Given the description of an element on the screen output the (x, y) to click on. 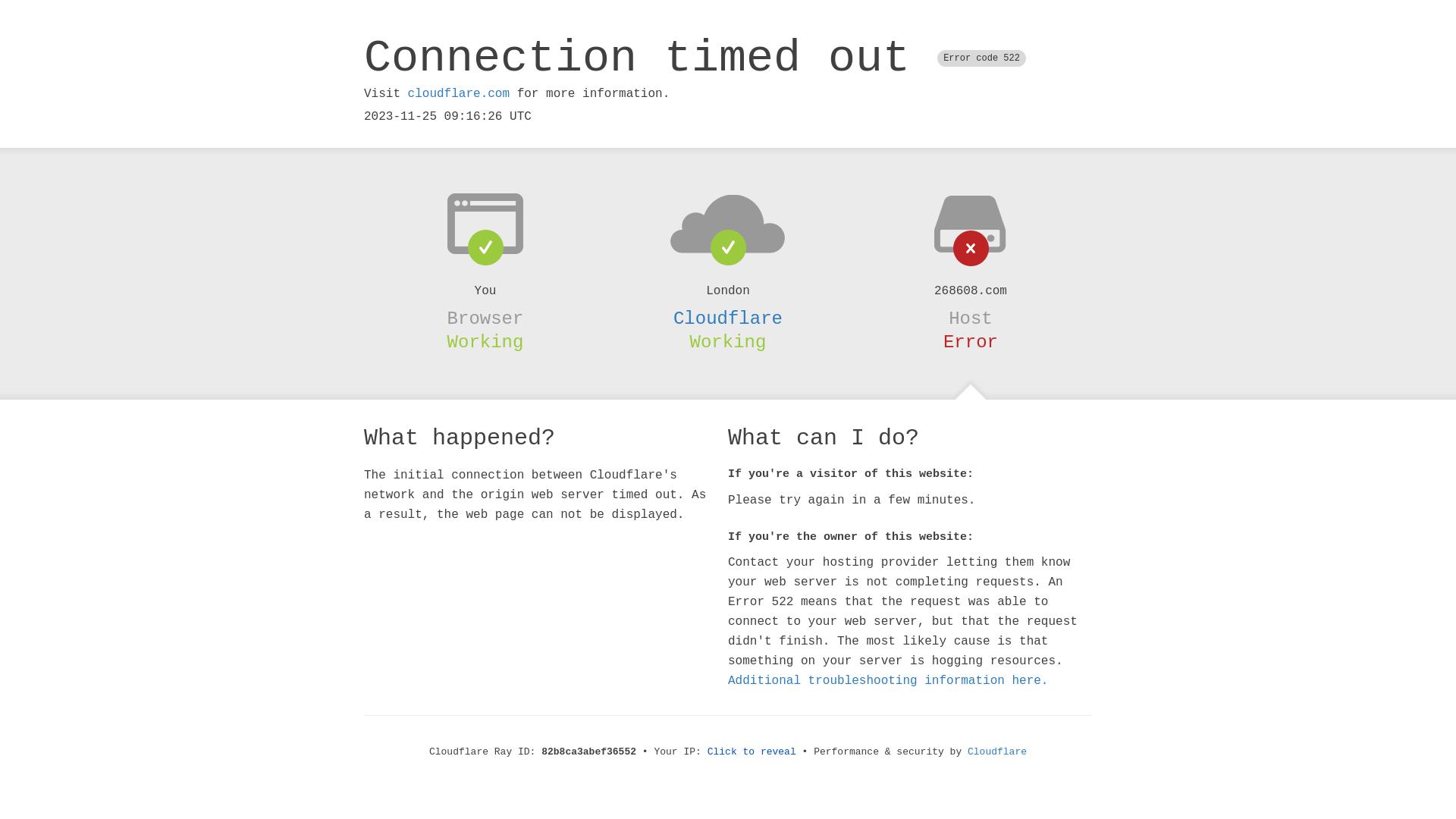
Click to reveal Element type: text (751, 751)
cloudflare.com Element type: text (458, 93)
Additional troubleshooting information here. Element type: text (888, 680)
Cloudflare Element type: text (996, 751)
Cloudflare Element type: text (727, 318)
